Given the description of an element on the screen output the (x, y) to click on. 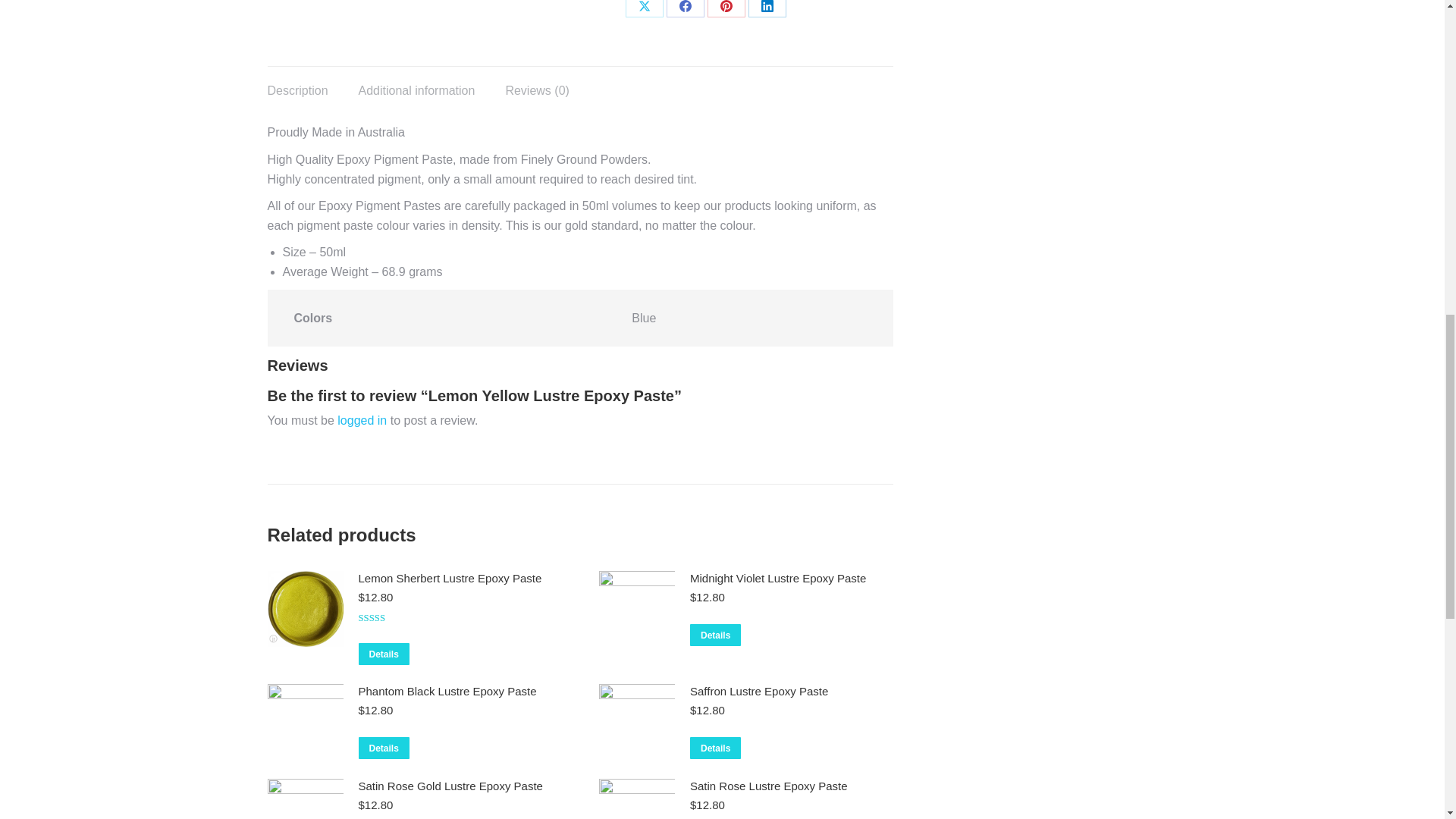
X (644, 8)
Facebook (685, 8)
Pinterest (726, 8)
